Given the description of an element on the screen output the (x, y) to click on. 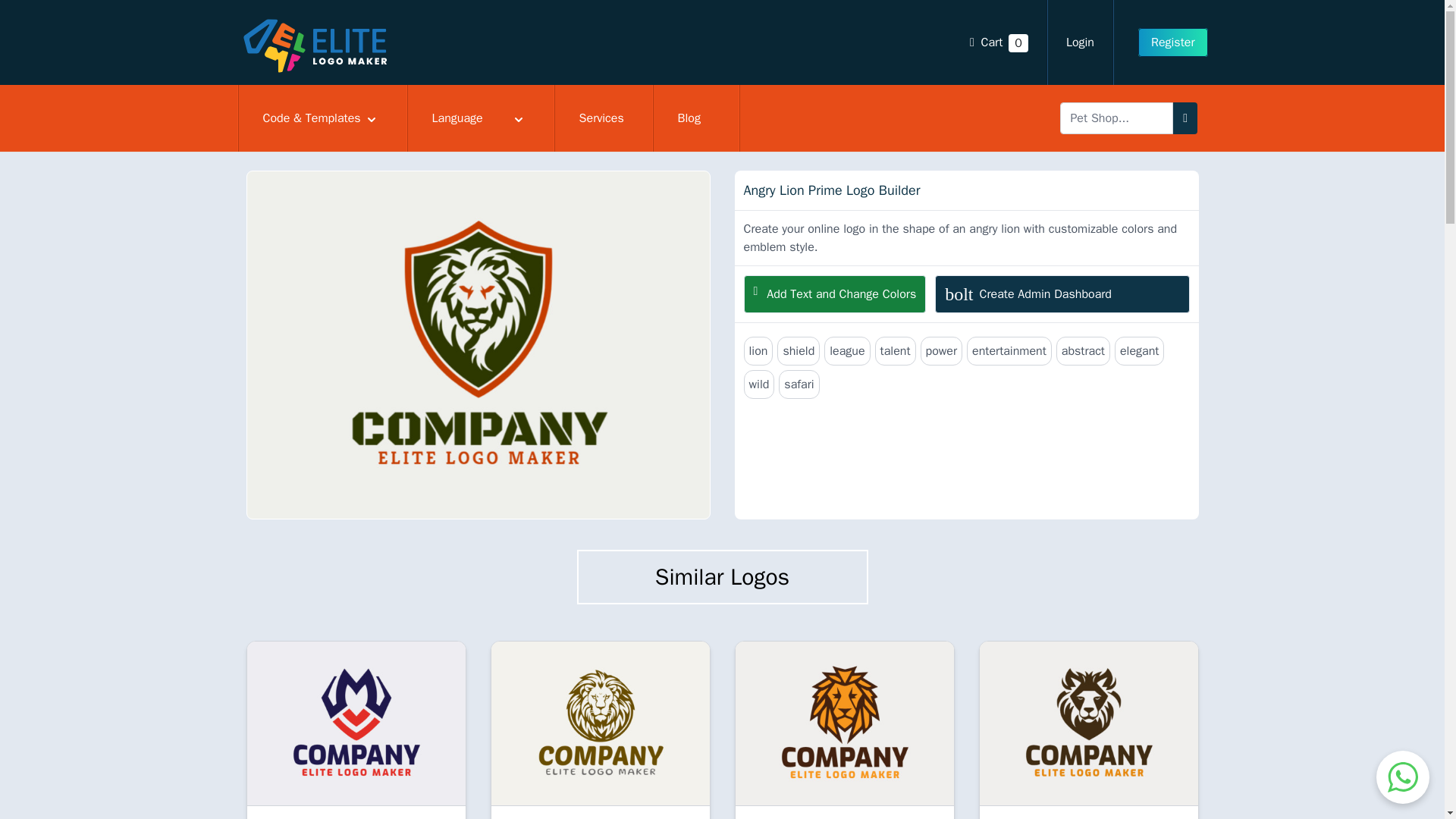
Services (603, 118)
wild (758, 384)
power (941, 350)
Blog (1061, 293)
Language (695, 118)
shield (480, 118)
African Lion Logo For Sale (798, 350)
Register (1088, 723)
